Given the description of an element on the screen output the (x, y) to click on. 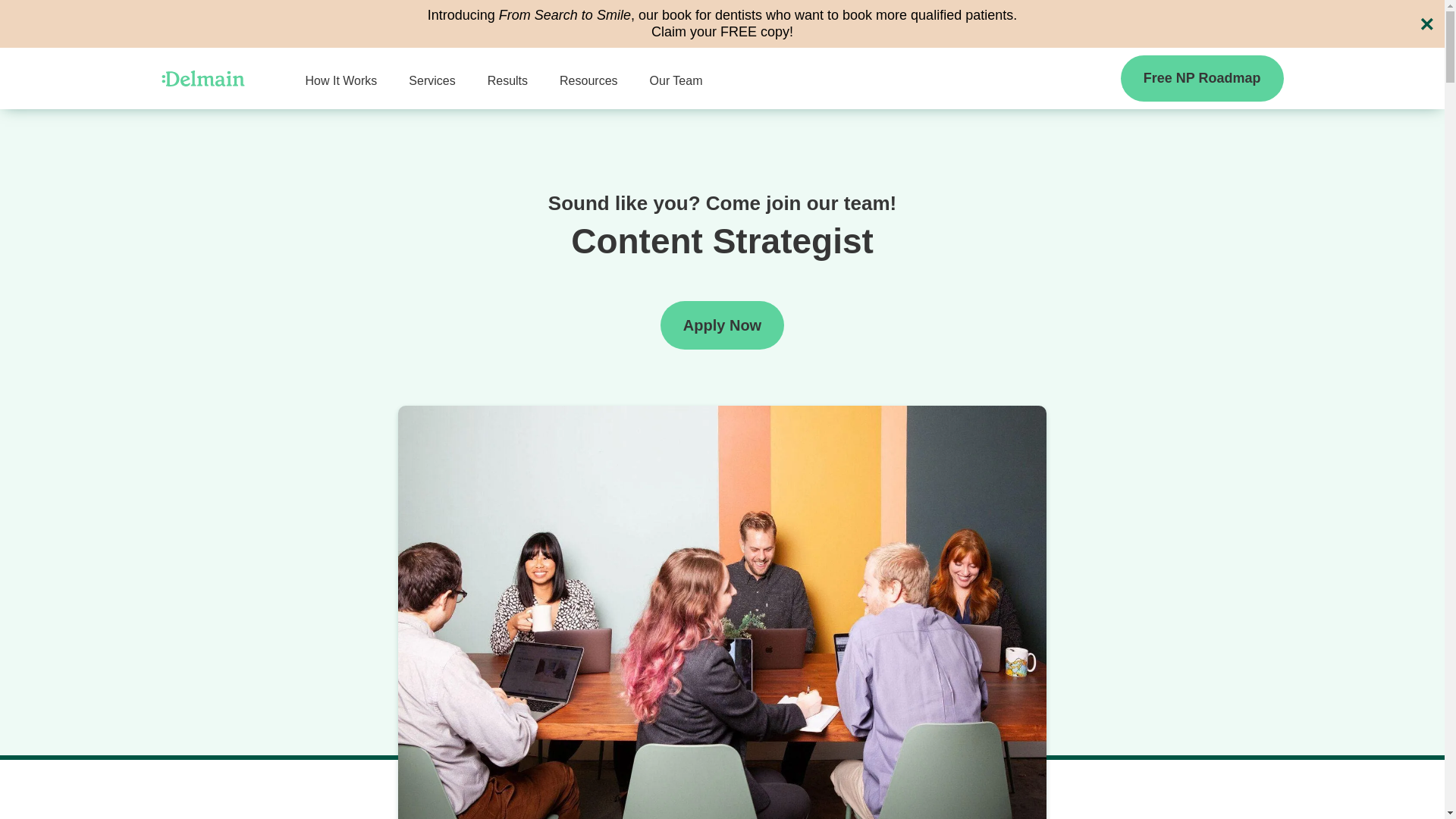
Services (432, 80)
Free NP Roadmap (1202, 78)
Our Team (676, 80)
Claim your FREE copy! (721, 31)
Resources (587, 80)
Results (507, 80)
Apply Now (722, 325)
How It Works (340, 80)
